Given the description of an element on the screen output the (x, y) to click on. 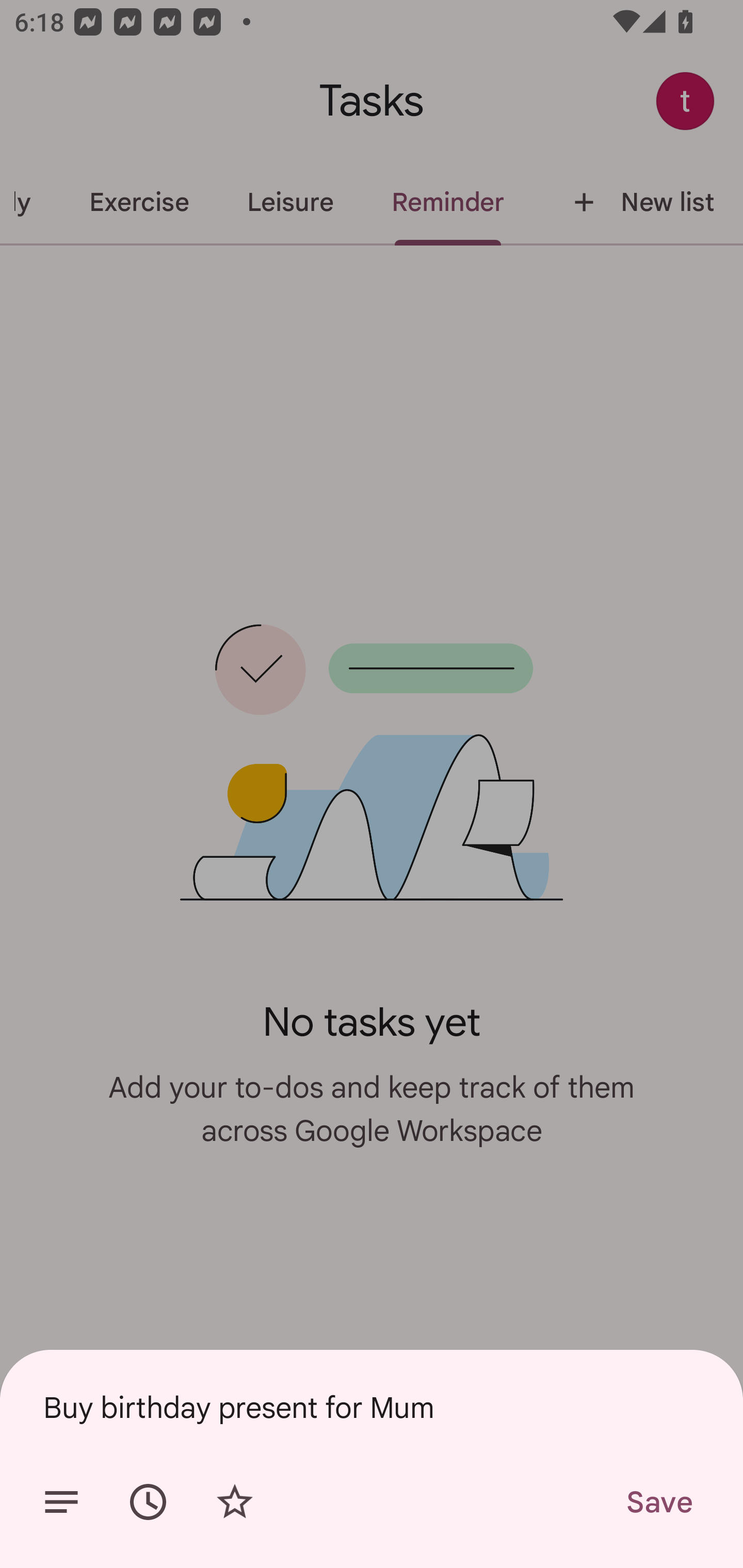
Buy birthday present for Mum (371, 1407)
Save (659, 1501)
Add details (60, 1501)
Set date/time (147, 1501)
Add star (234, 1501)
